Given the description of an element on the screen output the (x, y) to click on. 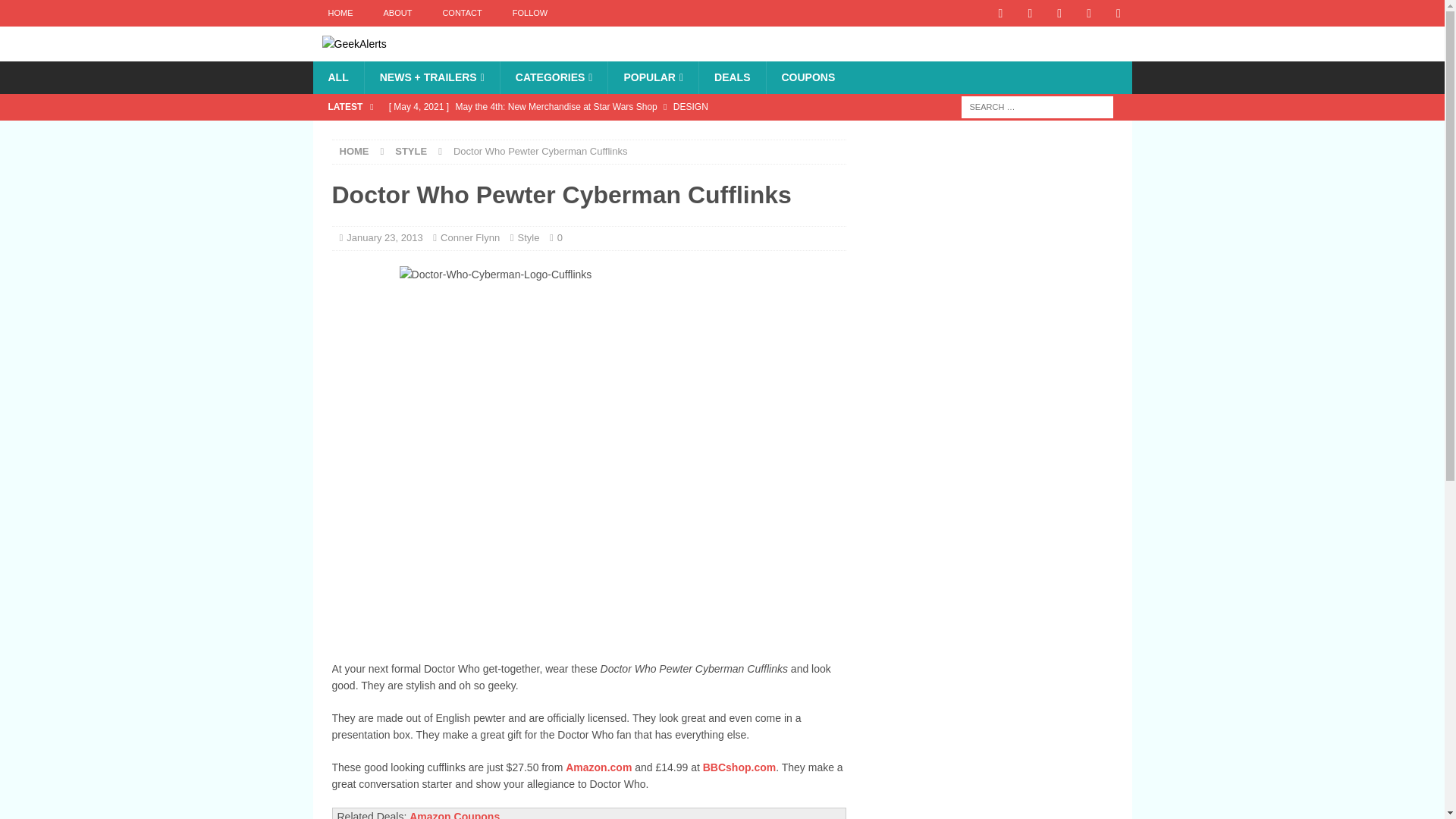
CATEGORIES (553, 77)
COUPONS (807, 77)
May the 4th: New Merchandise at Star Wars Shop (612, 106)
FOLLOW (529, 13)
HOME (354, 151)
DEALS (731, 77)
POPULAR (652, 77)
Search (56, 11)
ABOUT (398, 13)
Rick and Morty Get Shwifty Bluetooth Speaker (612, 132)
HOME (340, 13)
CONTACT (461, 13)
ALL (337, 77)
